Given the description of an element on the screen output the (x, y) to click on. 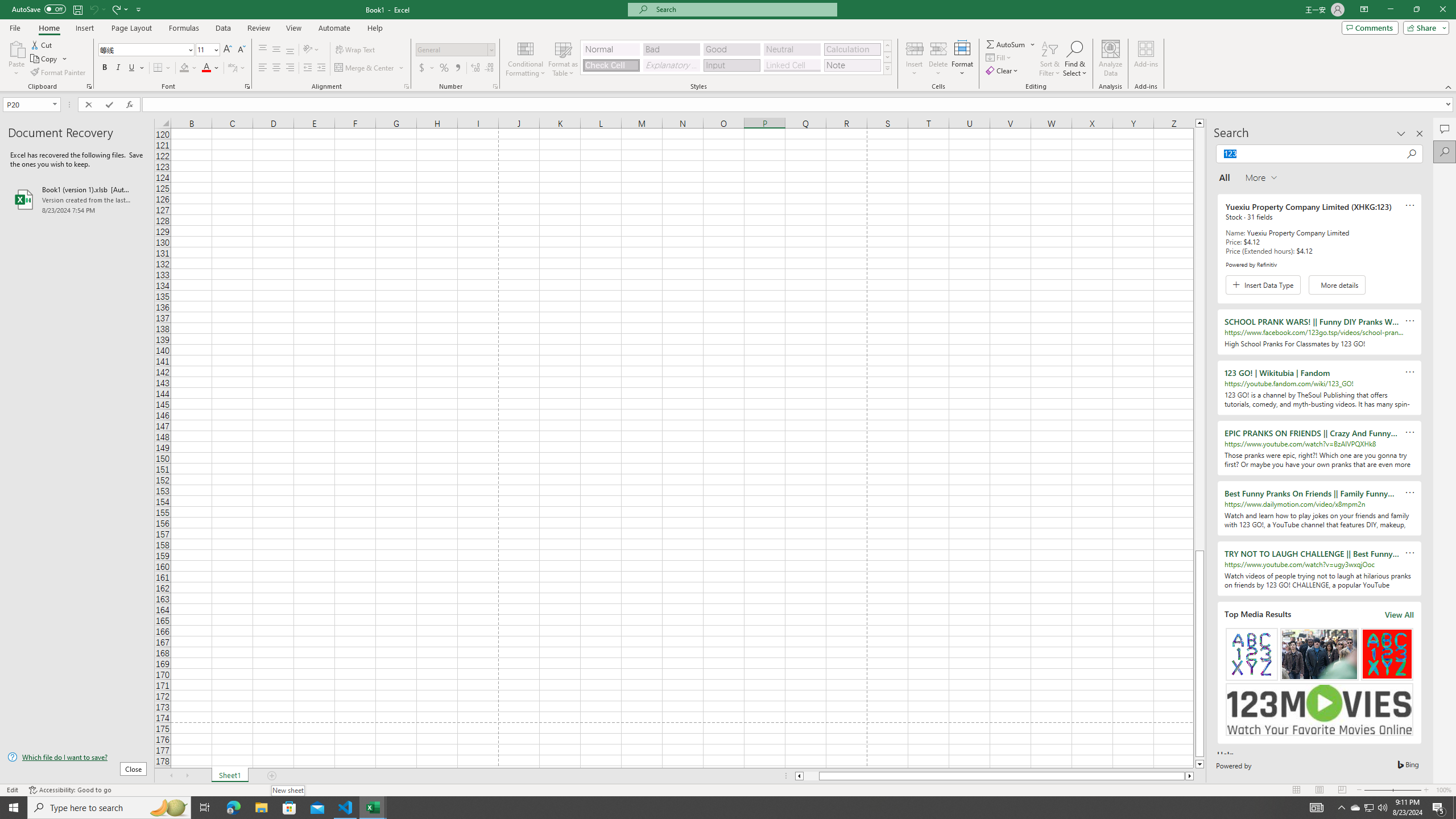
AutomationID: CellStylesGallery (736, 57)
Neutral (791, 49)
Accounting Number Format (422, 67)
Font Size (204, 49)
Format Cell Font (247, 85)
Sum (1006, 44)
Align Right (290, 67)
